Given the description of an element on the screen output the (x, y) to click on. 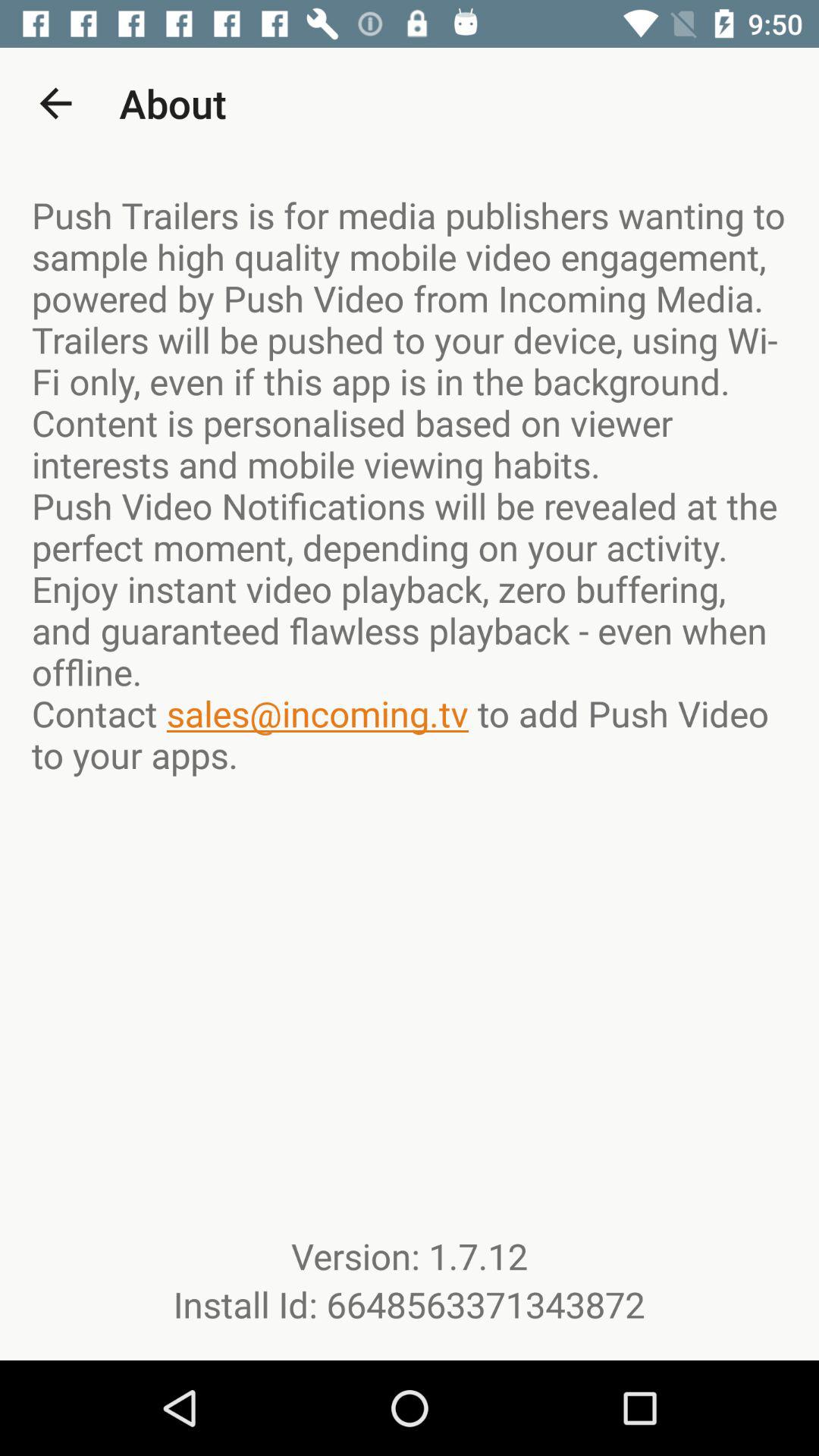
click the icon above the push trailers is icon (55, 103)
